Given the description of an element on the screen output the (x, y) to click on. 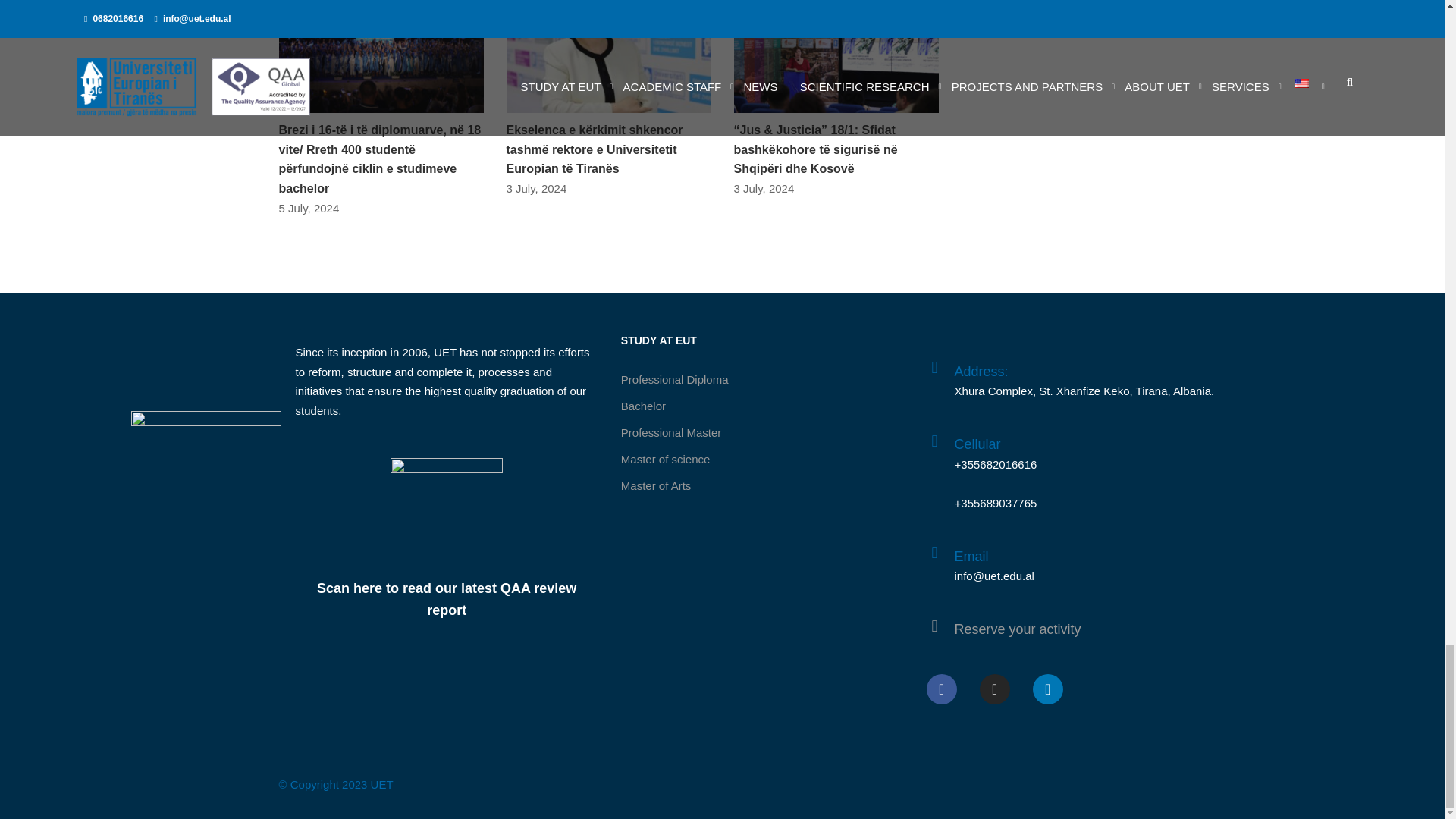
IMG-20240703-WA0001 (608, 56)
